Given the description of an element on the screen output the (x, y) to click on. 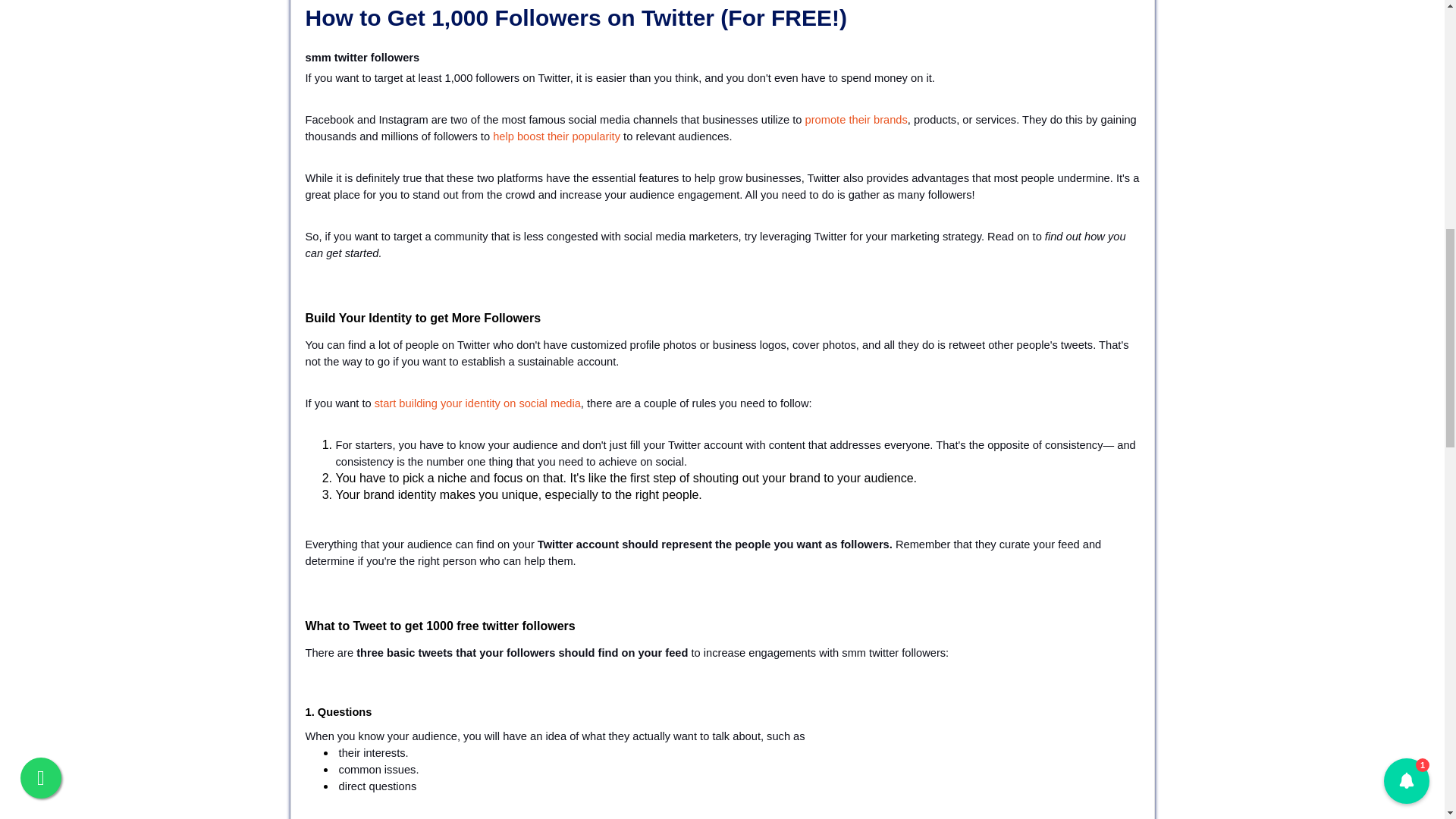
help boost their popularity (556, 136)
start building your identity on social media (477, 403)
promote their brands (856, 119)
